Given the description of an element on the screen output the (x, y) to click on. 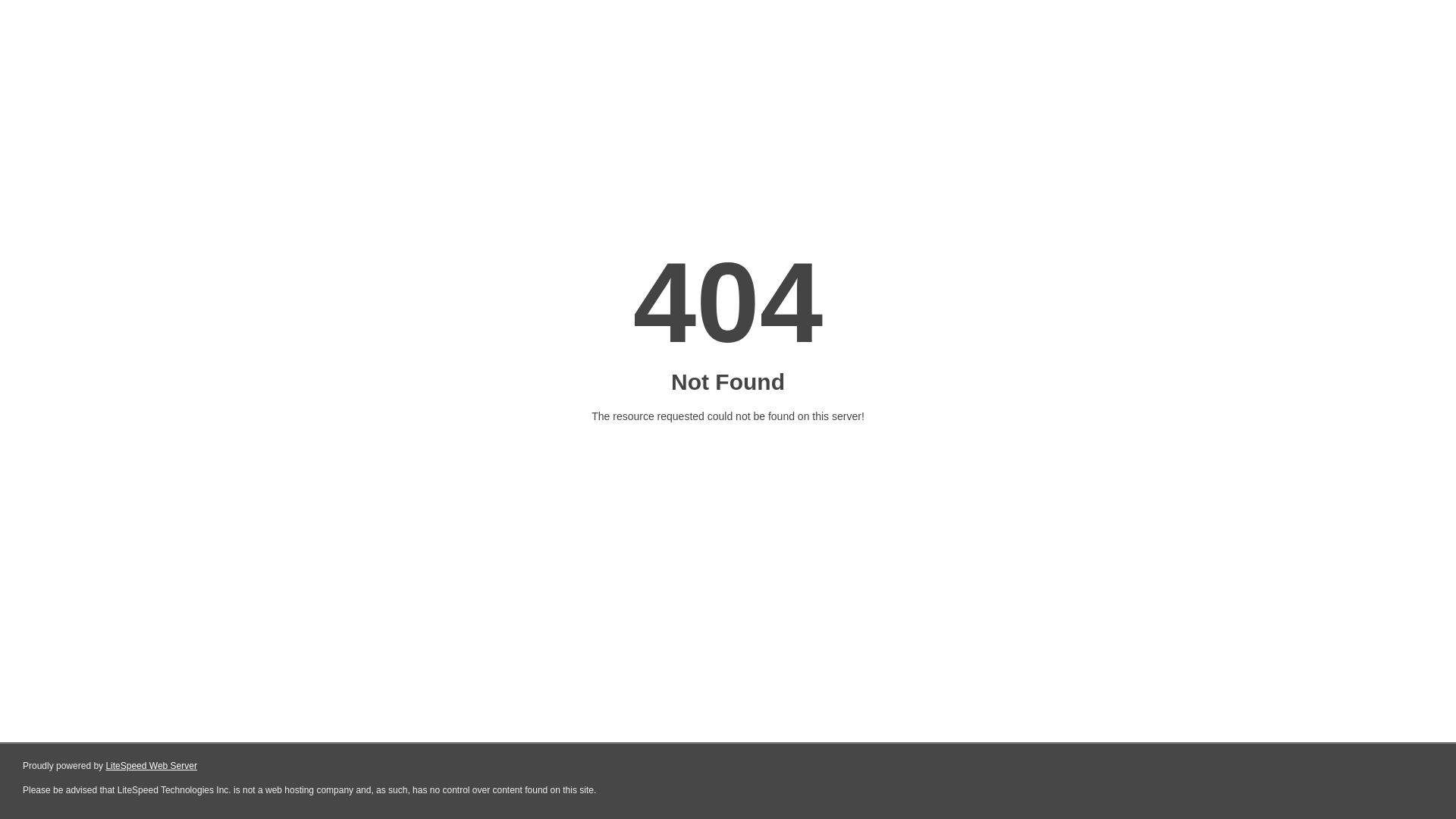
LiteSpeed Web Server Element type: text (151, 765)
